Given the description of an element on the screen output the (x, y) to click on. 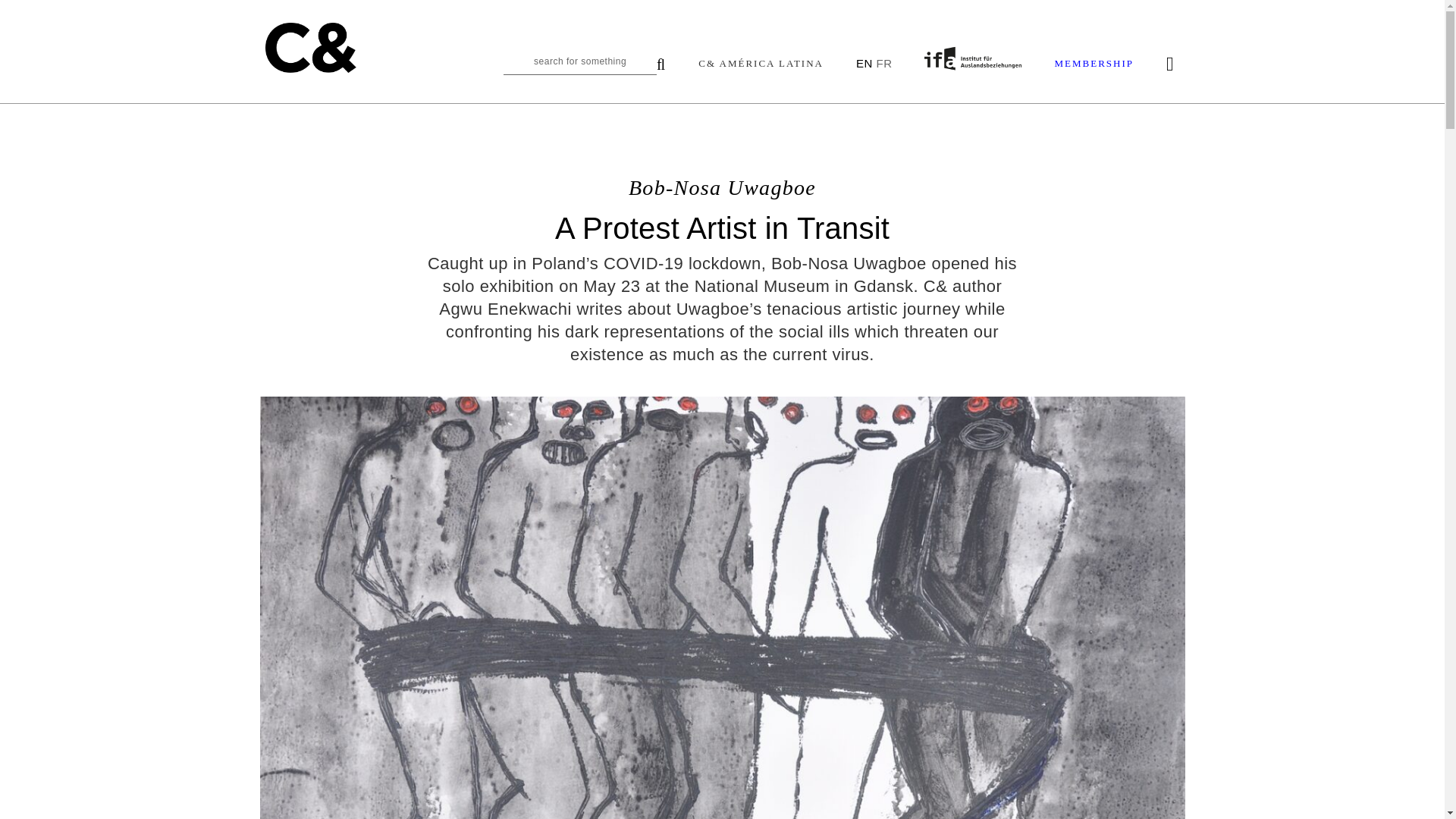
MEMBERSHIP (1094, 63)
FR (883, 62)
EN (864, 62)
search for something (584, 65)
